Given the description of an element on the screen output the (x, y) to click on. 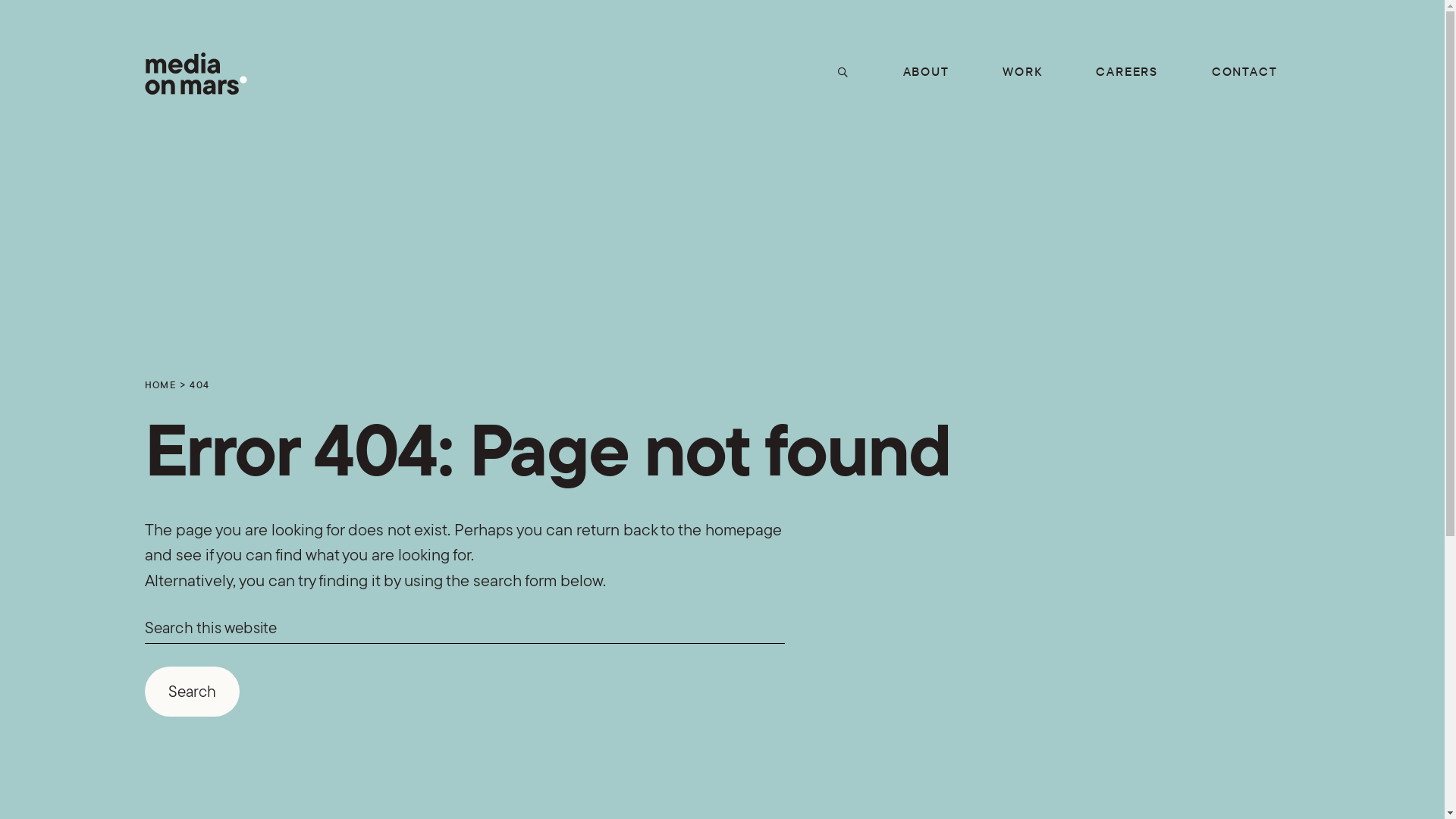
HOME Element type: text (159, 384)
CONTACT Element type: text (1244, 71)
ABOUT Element type: text (926, 71)
404 Element type: text (199, 384)
Media on Mars Element type: hover (195, 73)
Search Element type: text (191, 691)
WORK Element type: text (1021, 71)
CAREERS Element type: text (1126, 71)
homepage Element type: text (743, 529)
